Given the description of an element on the screen output the (x, y) to click on. 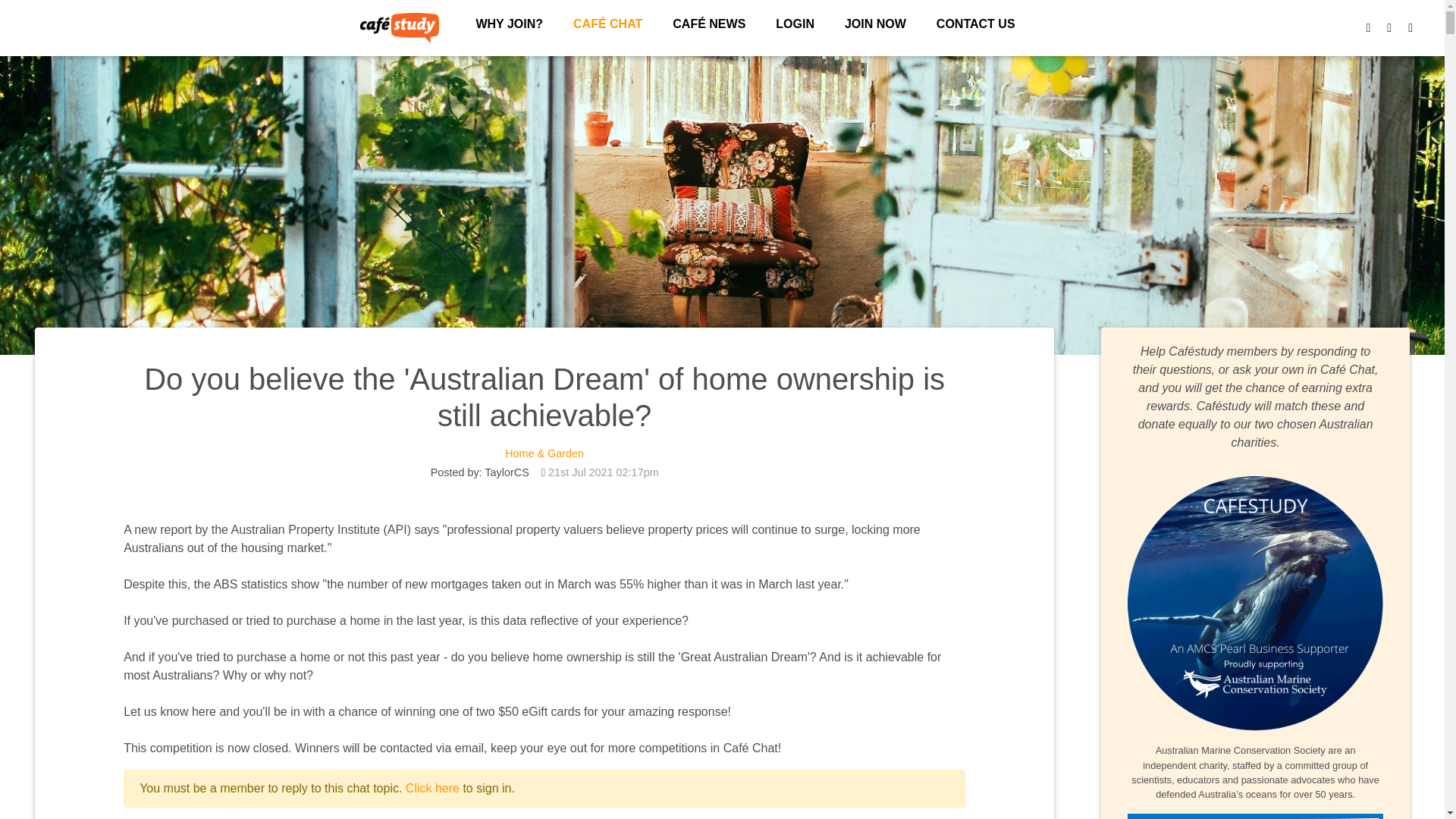
LOGIN (795, 24)
Click here (433, 788)
JOIN NOW (875, 24)
CONTACT US (976, 24)
WHY JOIN? (508, 24)
